Given the description of an element on the screen output the (x, y) to click on. 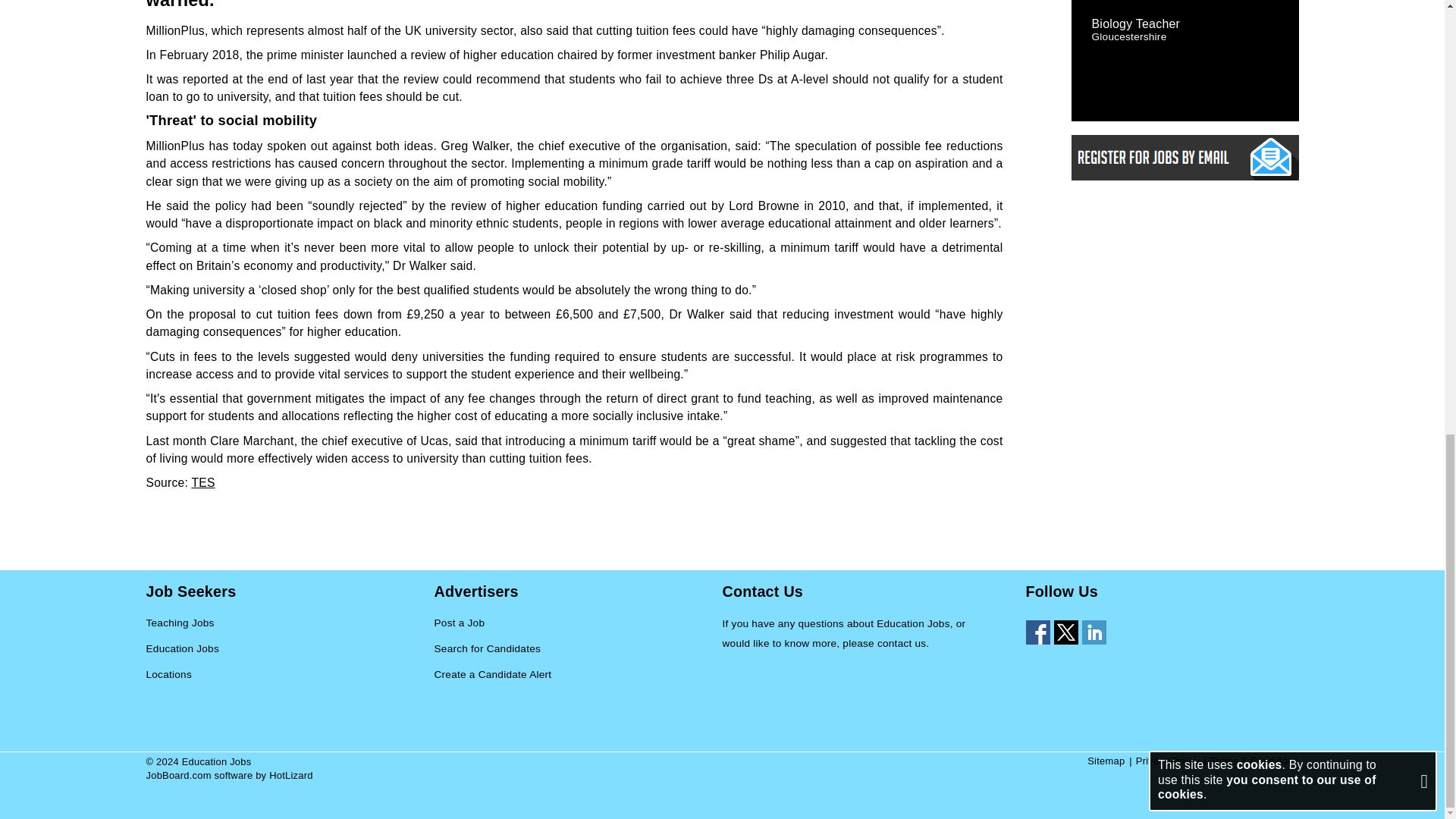
Create a Candidate Alert (492, 675)
TES (202, 481)
Search for Candidates (486, 649)
Locations (167, 675)
contact us (901, 643)
Biology Teacher (1136, 23)
Education Jobs (181, 649)
Teaching Jobs (179, 623)
Biology Teacher (1136, 23)
Post a Job (458, 623)
